Given the description of an element on the screen output the (x, y) to click on. 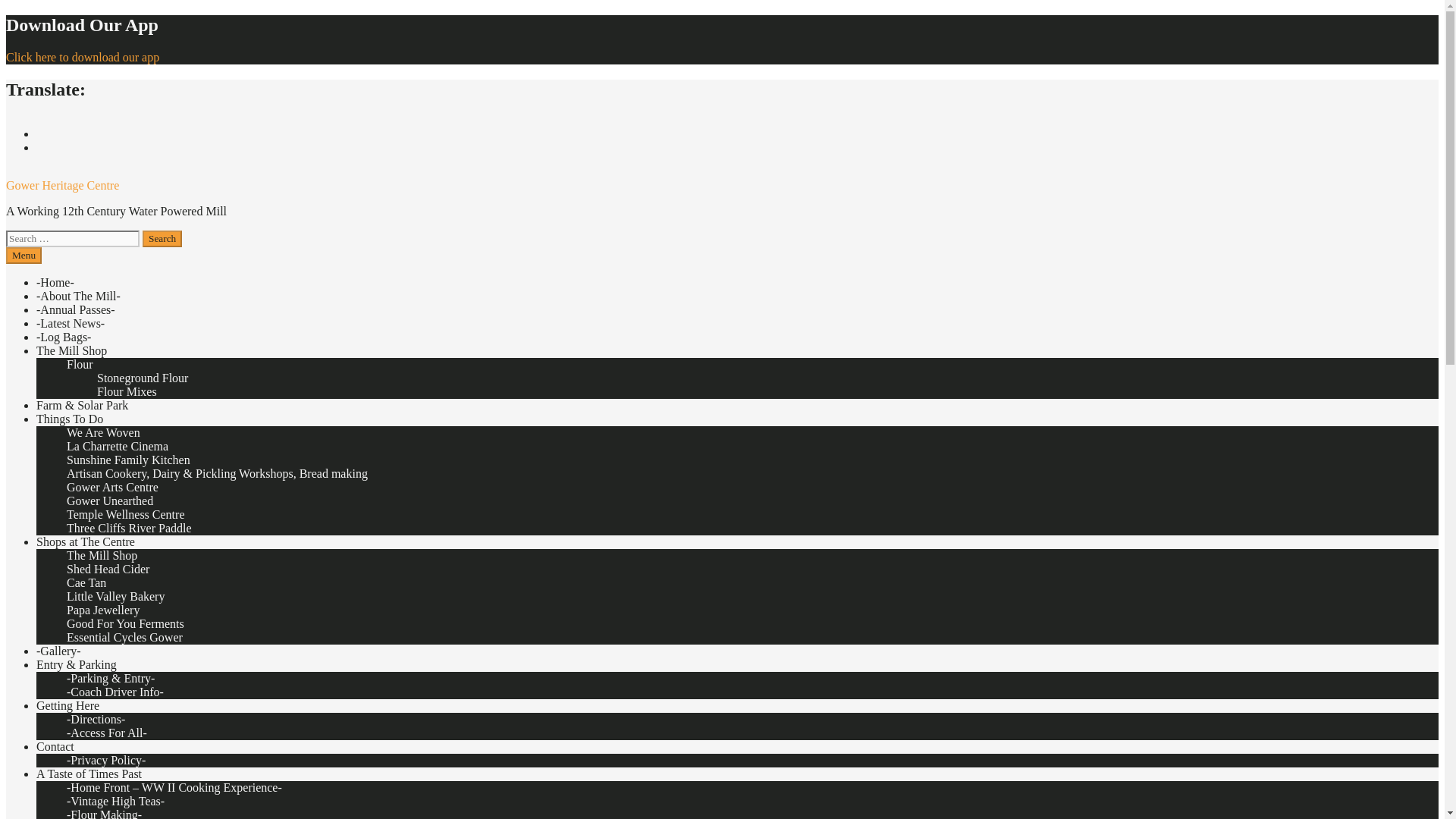
-Log Bags- (63, 336)
Gower Arts Centre (112, 486)
Stoneground Flour (142, 377)
Papa Jewellery (102, 609)
-Latest News- (70, 323)
Flour (79, 364)
Shed Head Cider (107, 568)
-Gallery- (58, 650)
La Charrette Cinema (117, 445)
-Coach Driver Info- (114, 691)
Menu (23, 255)
Little Valley Bakery (115, 595)
Essential Cycles Gower (124, 636)
Search (162, 238)
Shops at The Centre (85, 541)
